Given the description of an element on the screen output the (x, y) to click on. 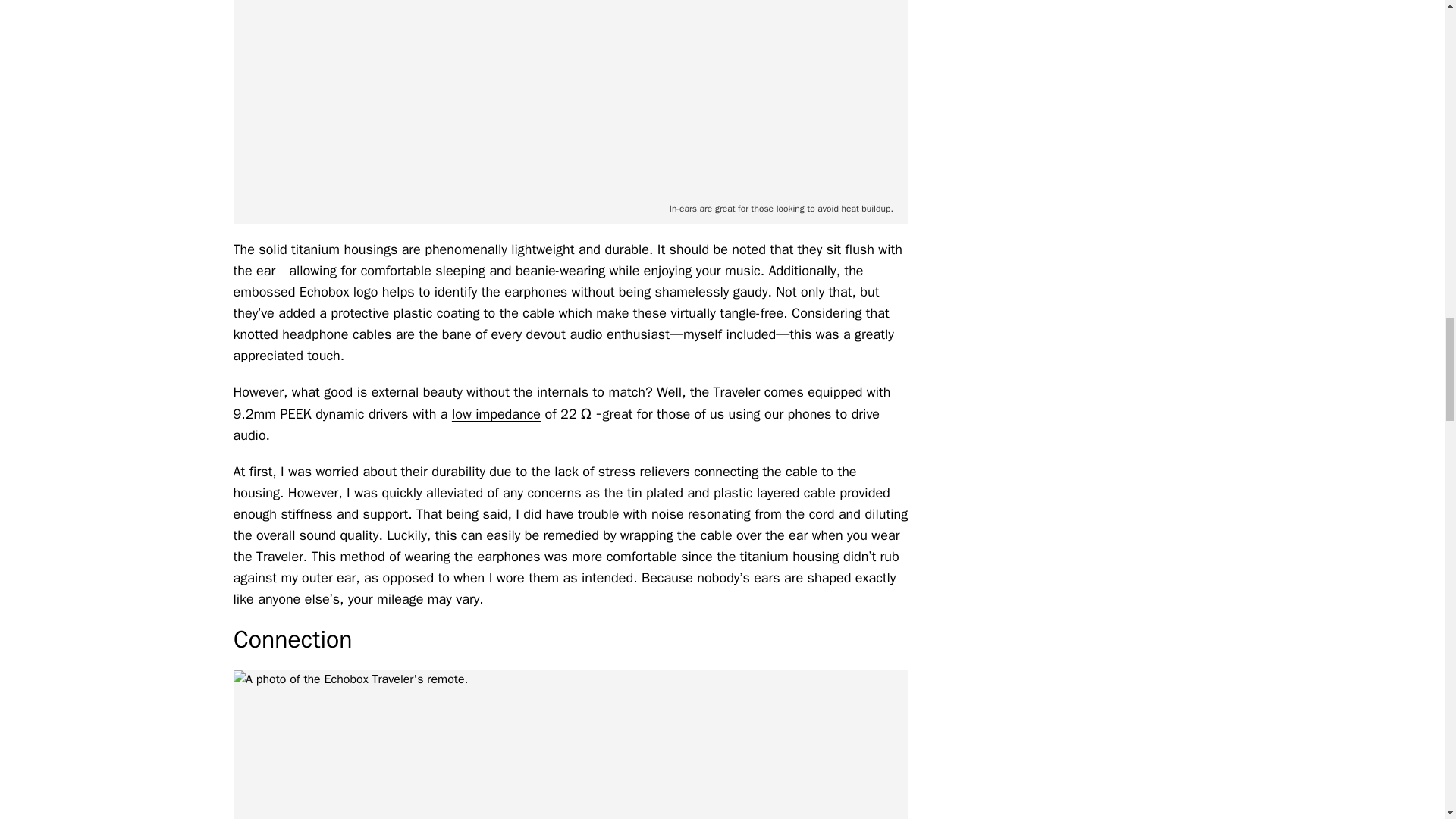
Traveler03 (570, 96)
Traveler02 (570, 744)
low impedance (495, 413)
